Given the description of an element on the screen output the (x, y) to click on. 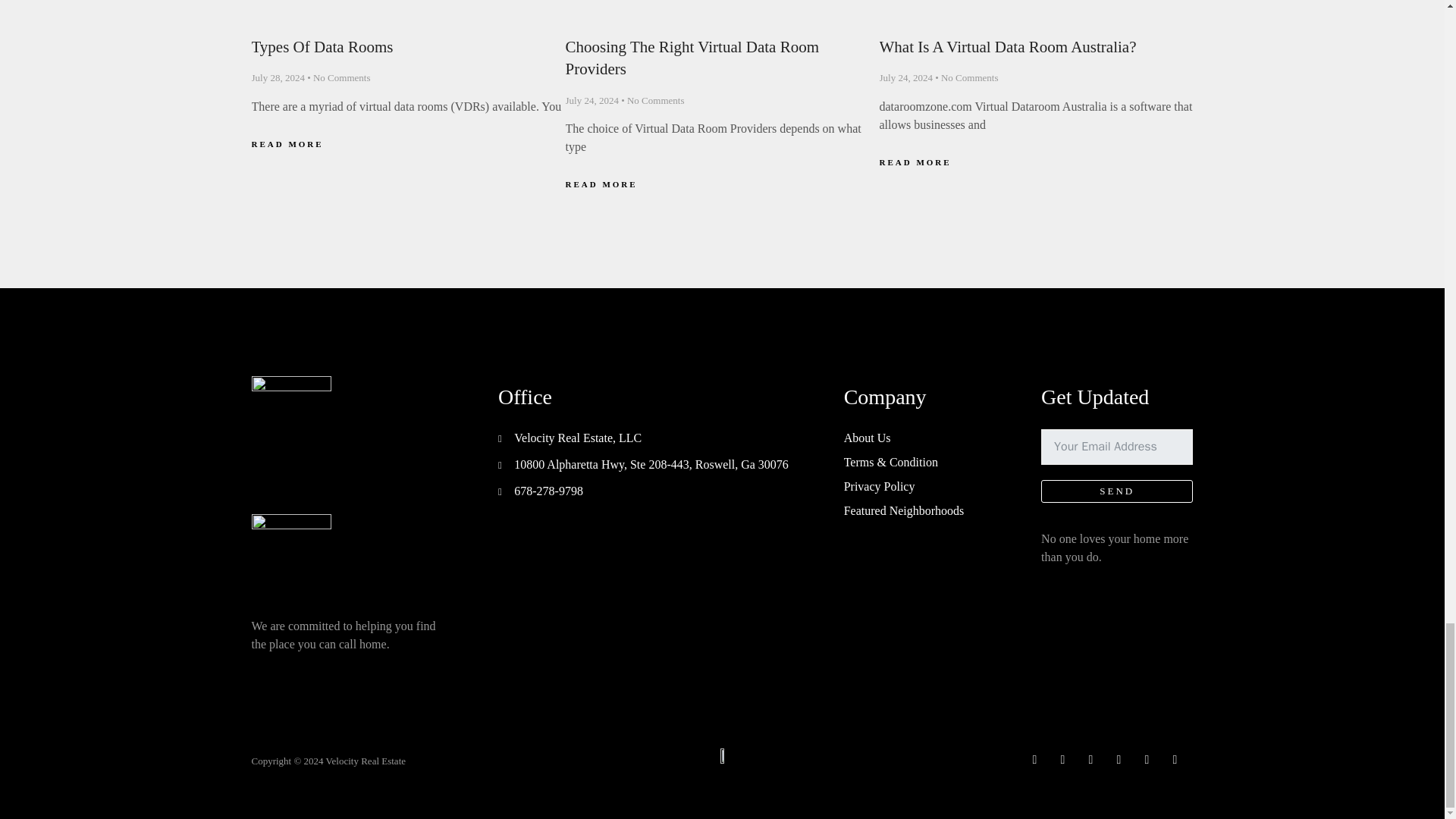
Get Updated (1116, 406)
Related Post (722, 18)
No one loves your home more than you do. (1116, 559)
Company (919, 406)
Office (647, 406)
SEND (1116, 473)
